Given the description of an element on the screen output the (x, y) to click on. 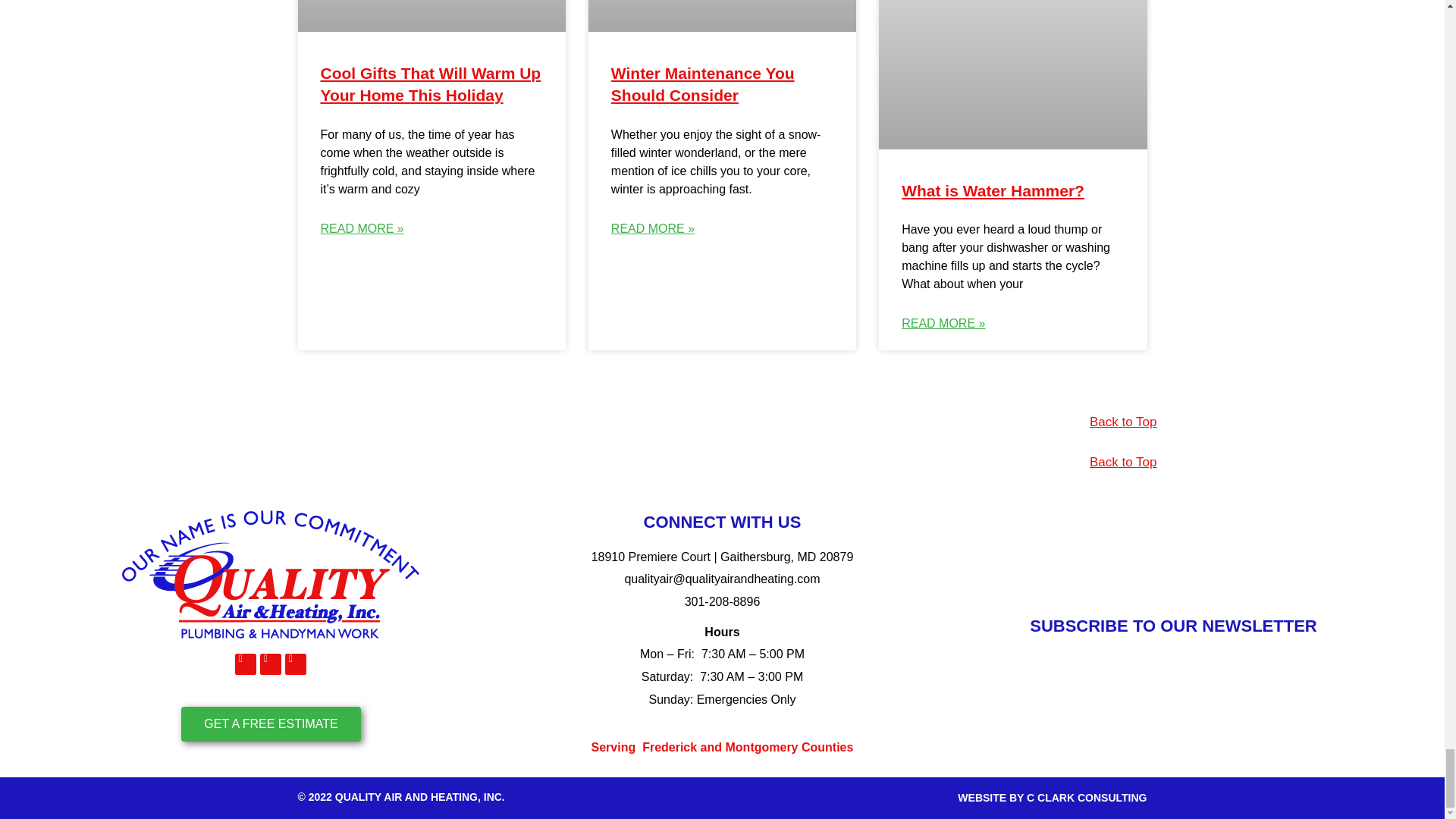
Winter Maintenance You Should Consider (702, 84)
What is Water Hammer? (992, 190)
Cool Gifts That Will Warm Up Your Home This Holiday (430, 84)
